Given the description of an element on the screen output the (x, y) to click on. 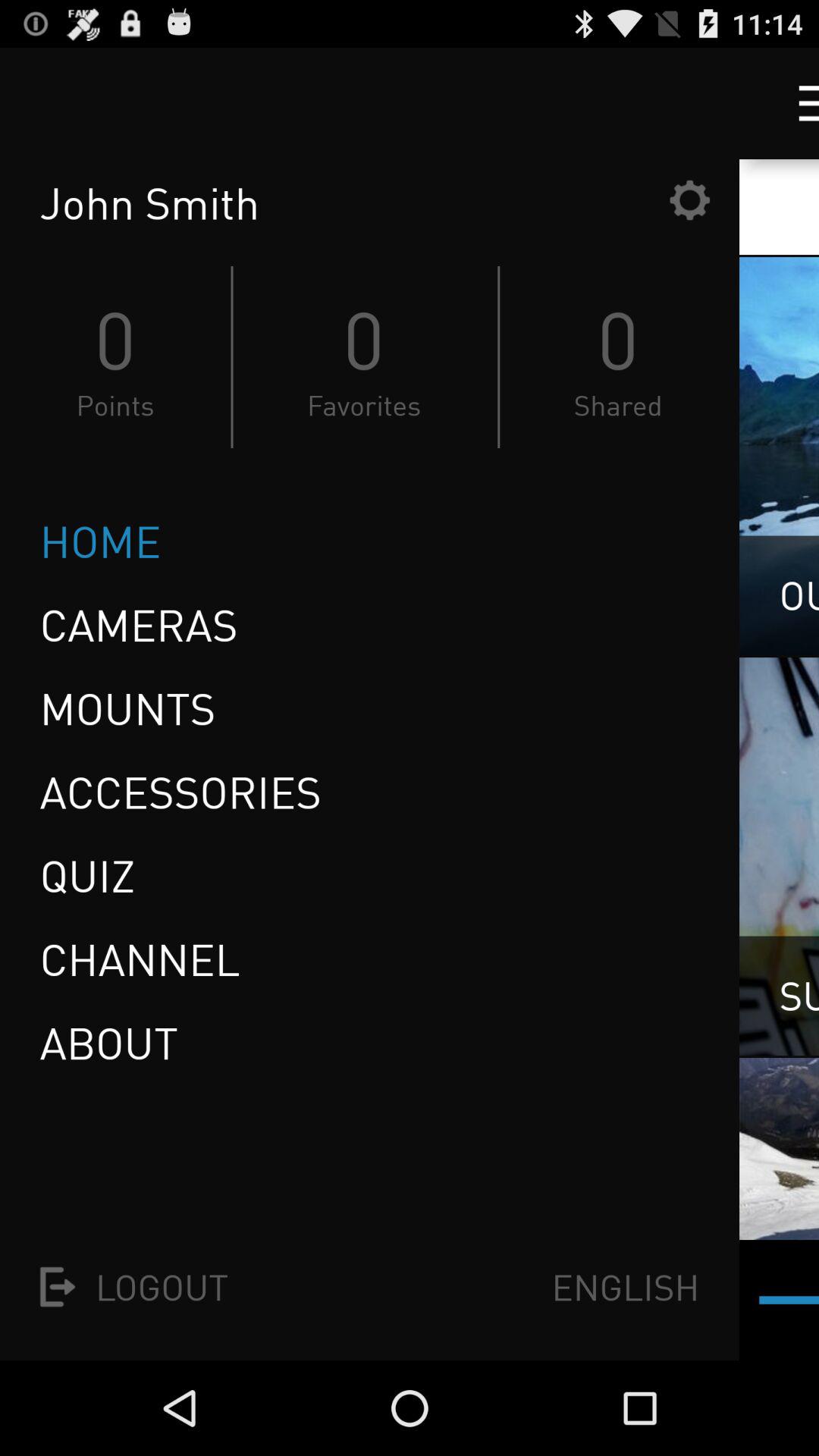
choose john smith icon (349, 202)
